Given the description of an element on the screen output the (x, y) to click on. 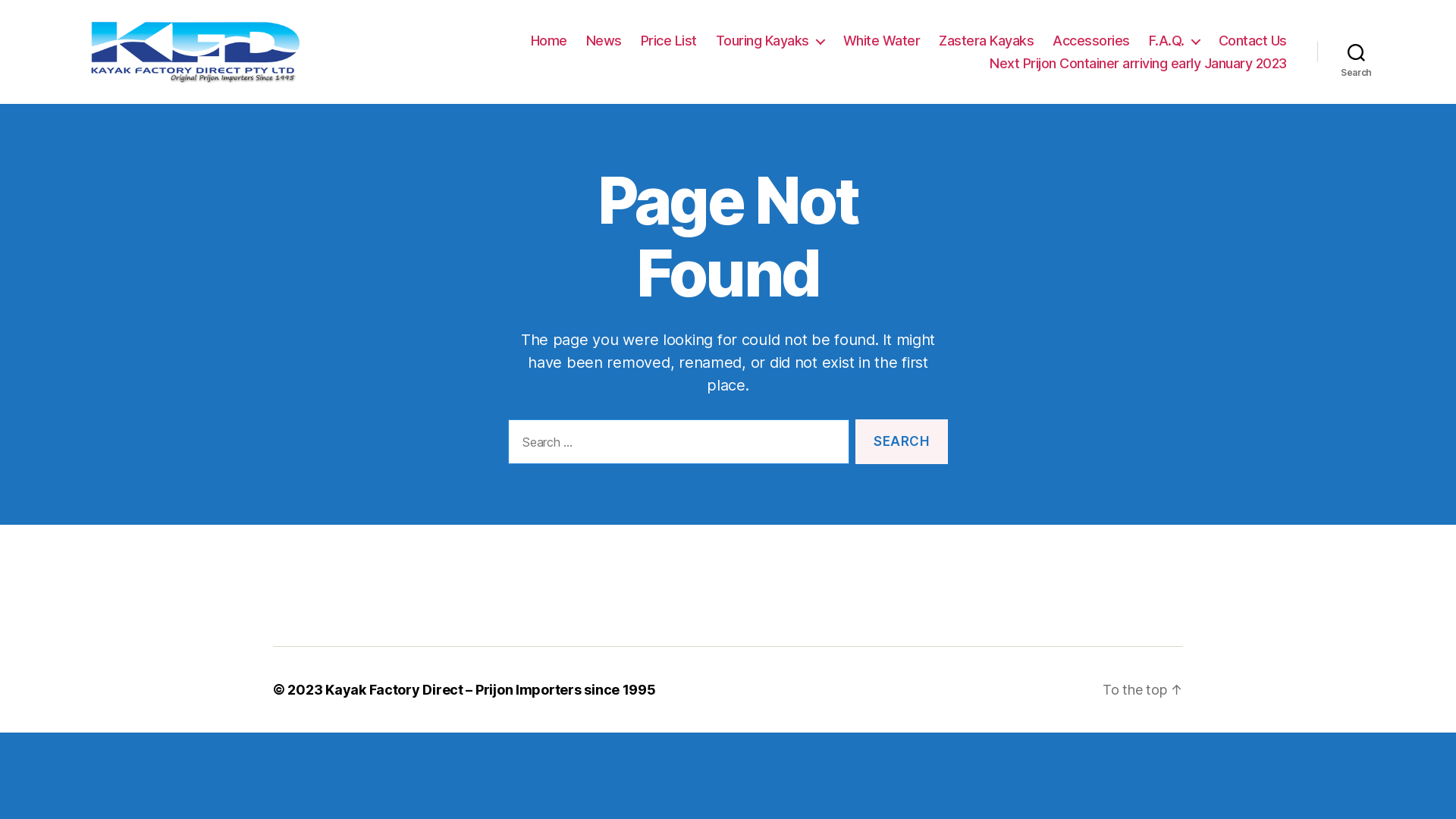
News Element type: text (603, 40)
Zastera Kayaks Element type: text (985, 40)
Search Element type: text (1356, 51)
Home Element type: text (548, 40)
Accessories Element type: text (1090, 40)
White Water Element type: text (881, 40)
Contact Us Element type: text (1252, 40)
Touring Kayaks Element type: text (769, 40)
Price List Element type: text (668, 40)
Next Prijon Container arriving early January 2023 Element type: text (1137, 62)
Search Element type: text (901, 441)
F.A.Q. Element type: text (1173, 40)
